Given the description of an element on the screen output the (x, y) to click on. 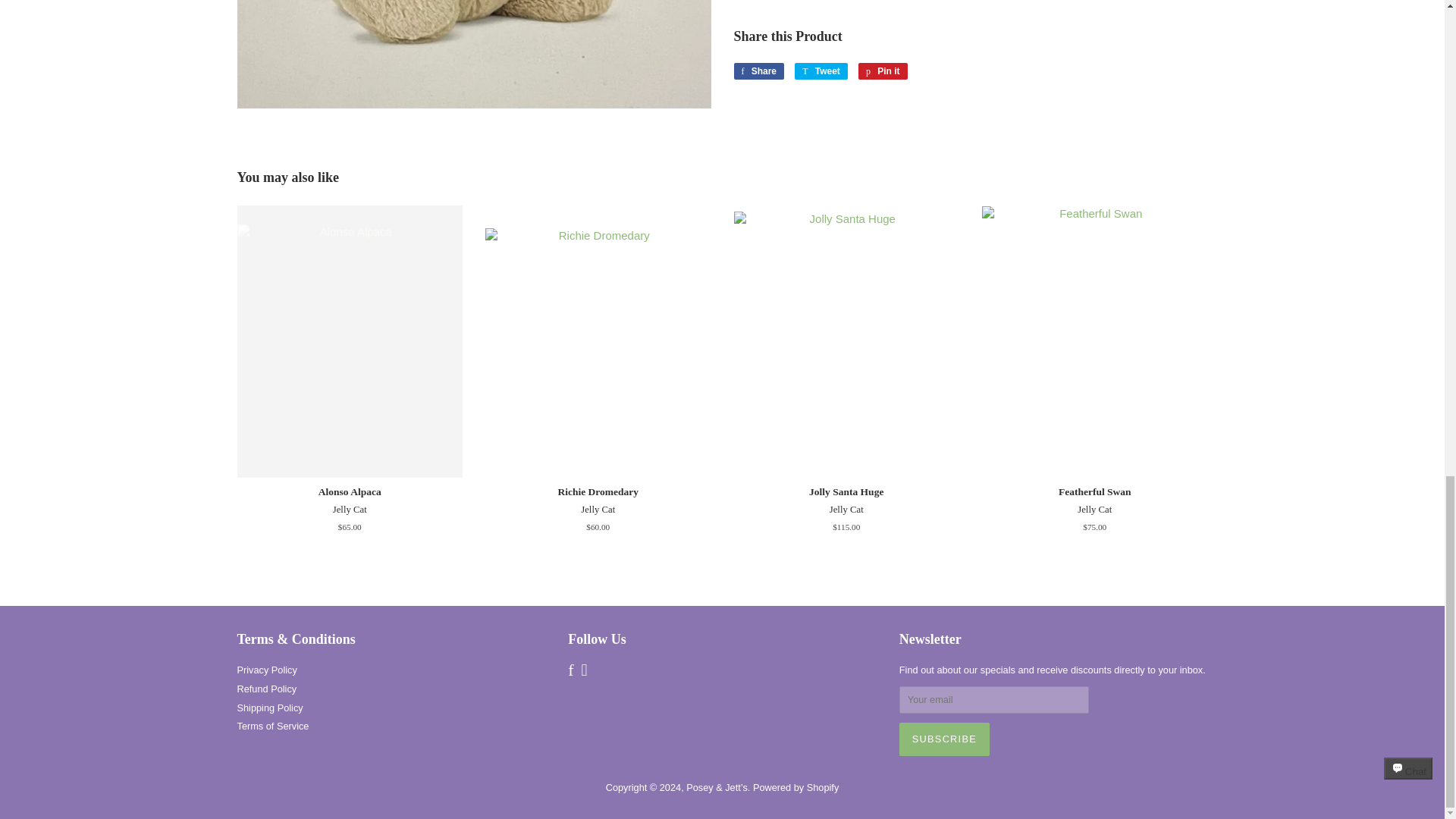
Tweet on Twitter (758, 71)
Shipping Policy (820, 71)
Pin on Pinterest (268, 707)
Subscribe (883, 71)
Refund Policy (944, 738)
Privacy Policy (266, 688)
Share on Facebook (883, 71)
